Given the description of an element on the screen output the (x, y) to click on. 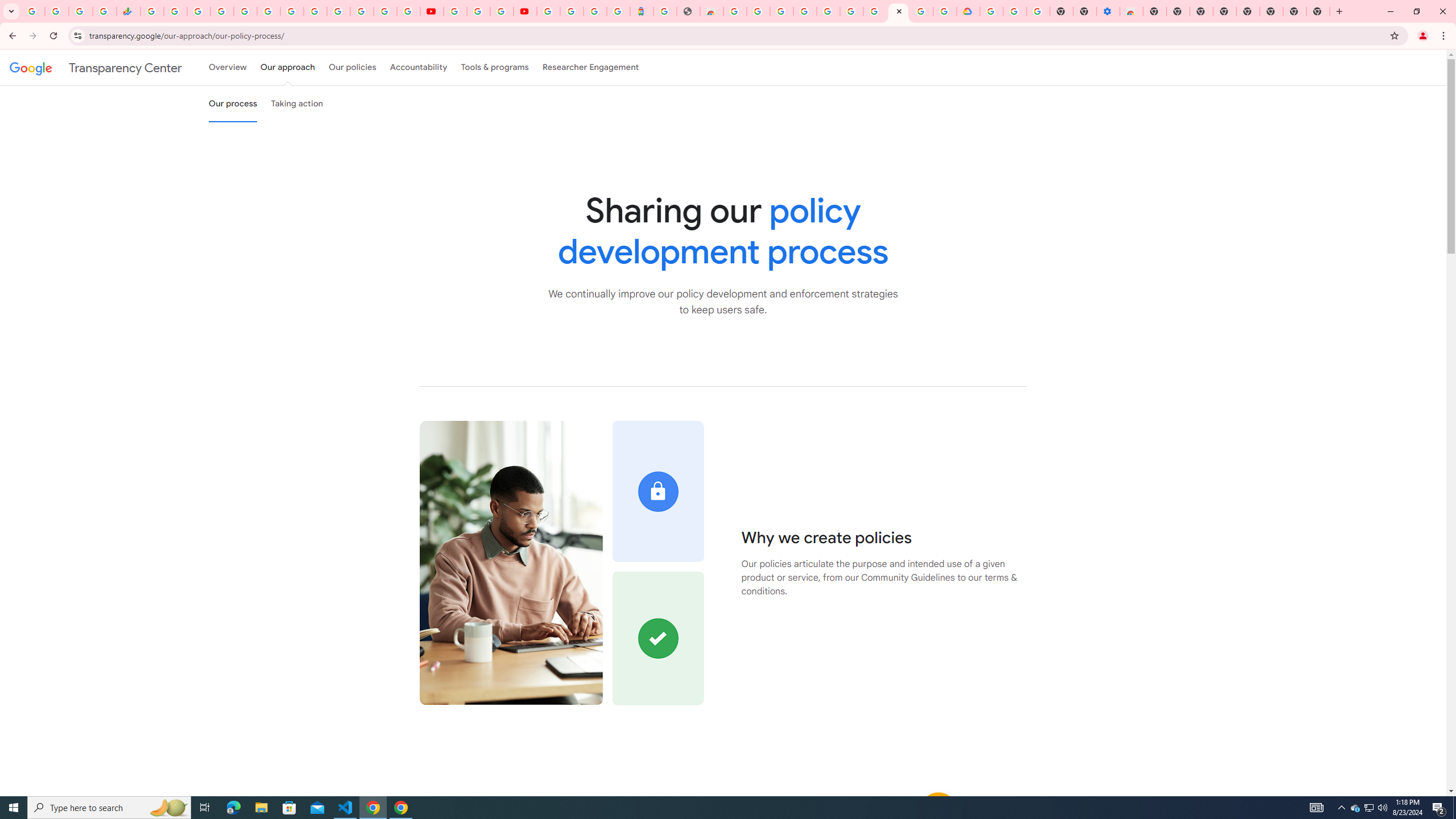
Create your Google Account (501, 11)
New Tab (1155, 11)
Create your Google Account (757, 11)
Sign in - Google Accounts (571, 11)
Our policies (351, 67)
Google Workspace Admin Community (32, 11)
YouTube (314, 11)
